Given the description of an element on the screen output the (x, y) to click on. 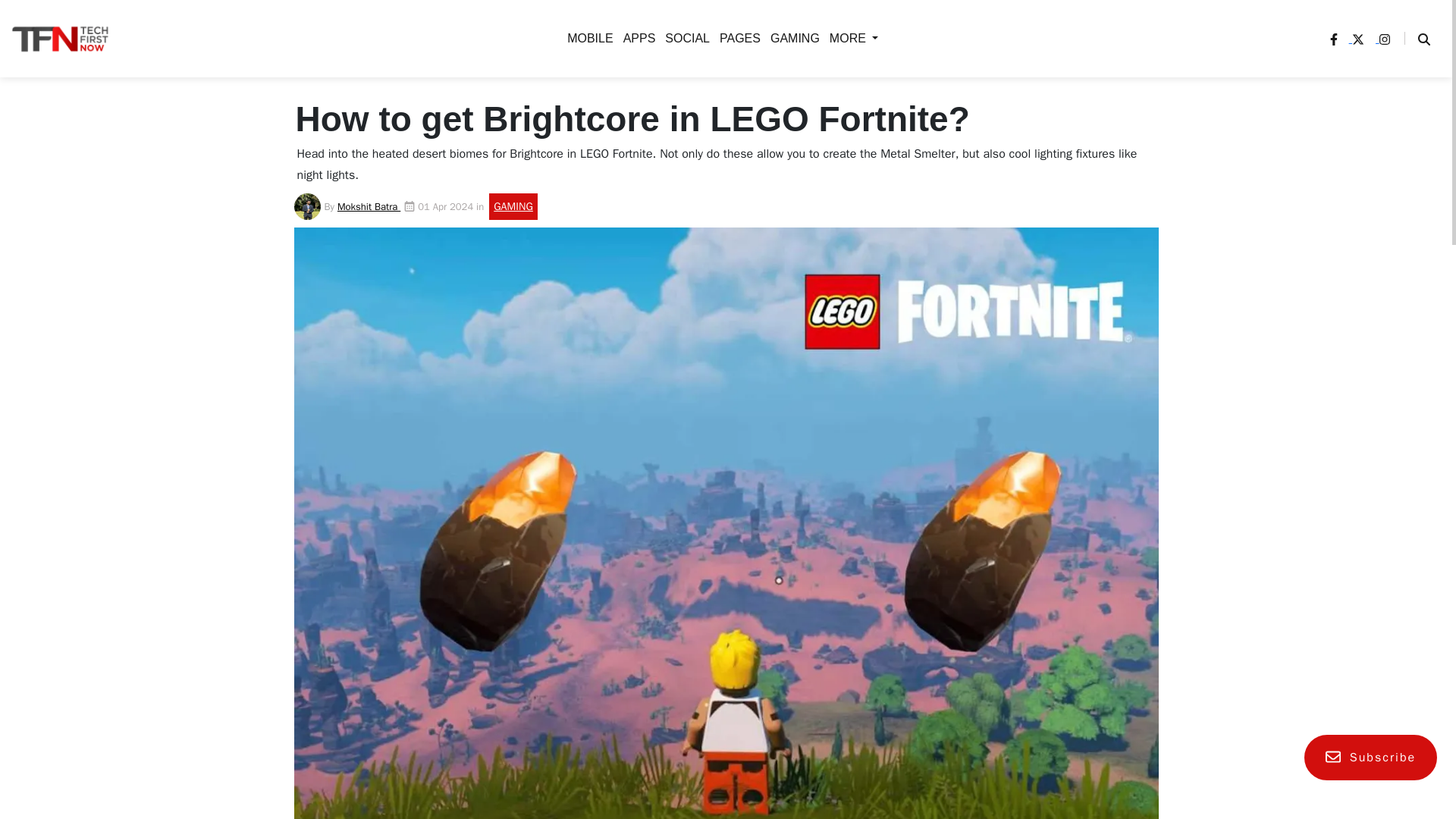
GAMING (394, 158)
Mokshit Batra (368, 205)
